Given the description of an element on the screen output the (x, y) to click on. 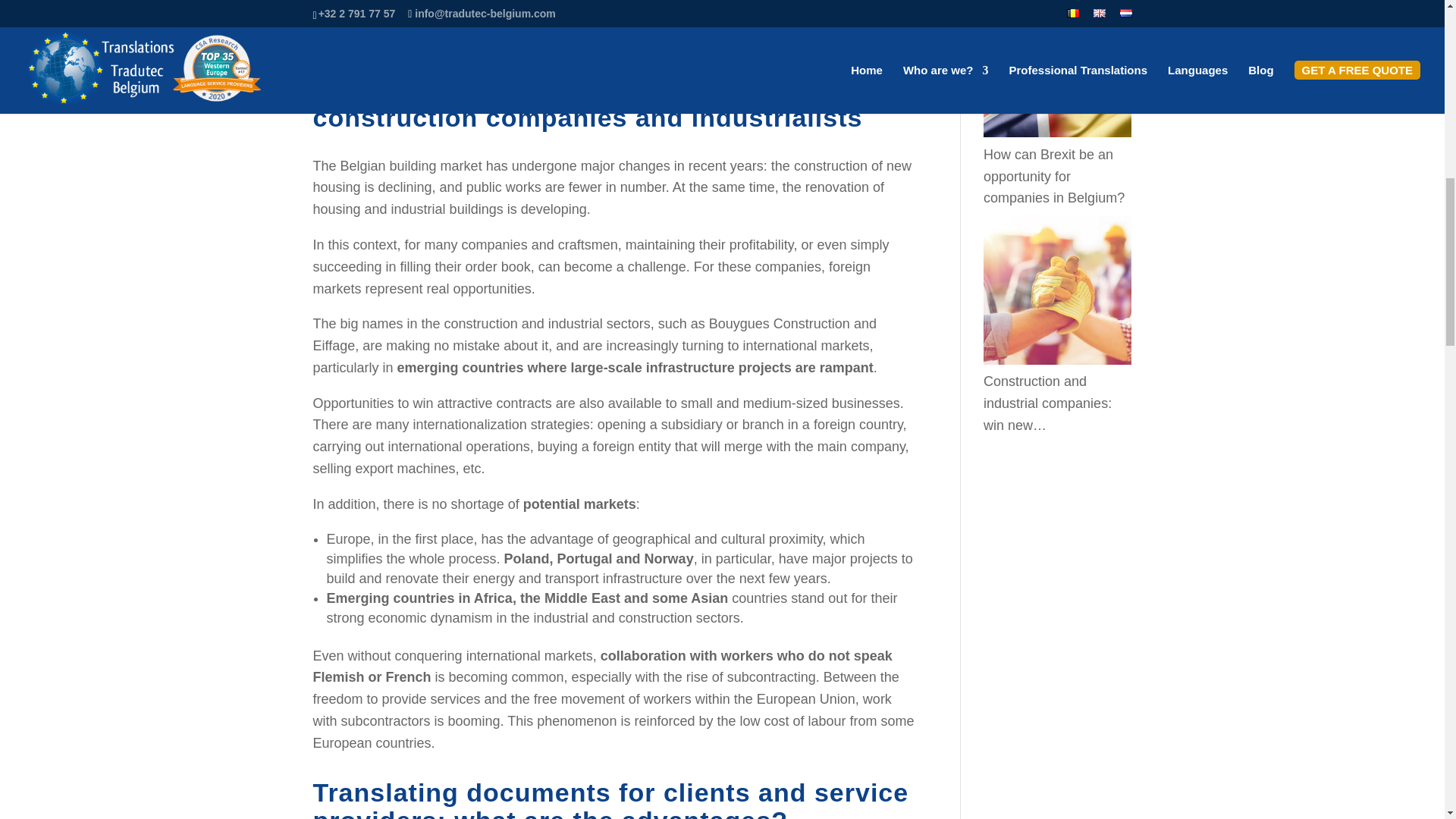
How can Brexit be an opportunity for companies in Belgium? (1054, 176)
How can Brexit be an opportunity for companies in Belgium? (1057, 68)
